Given the description of an element on the screen output the (x, y) to click on. 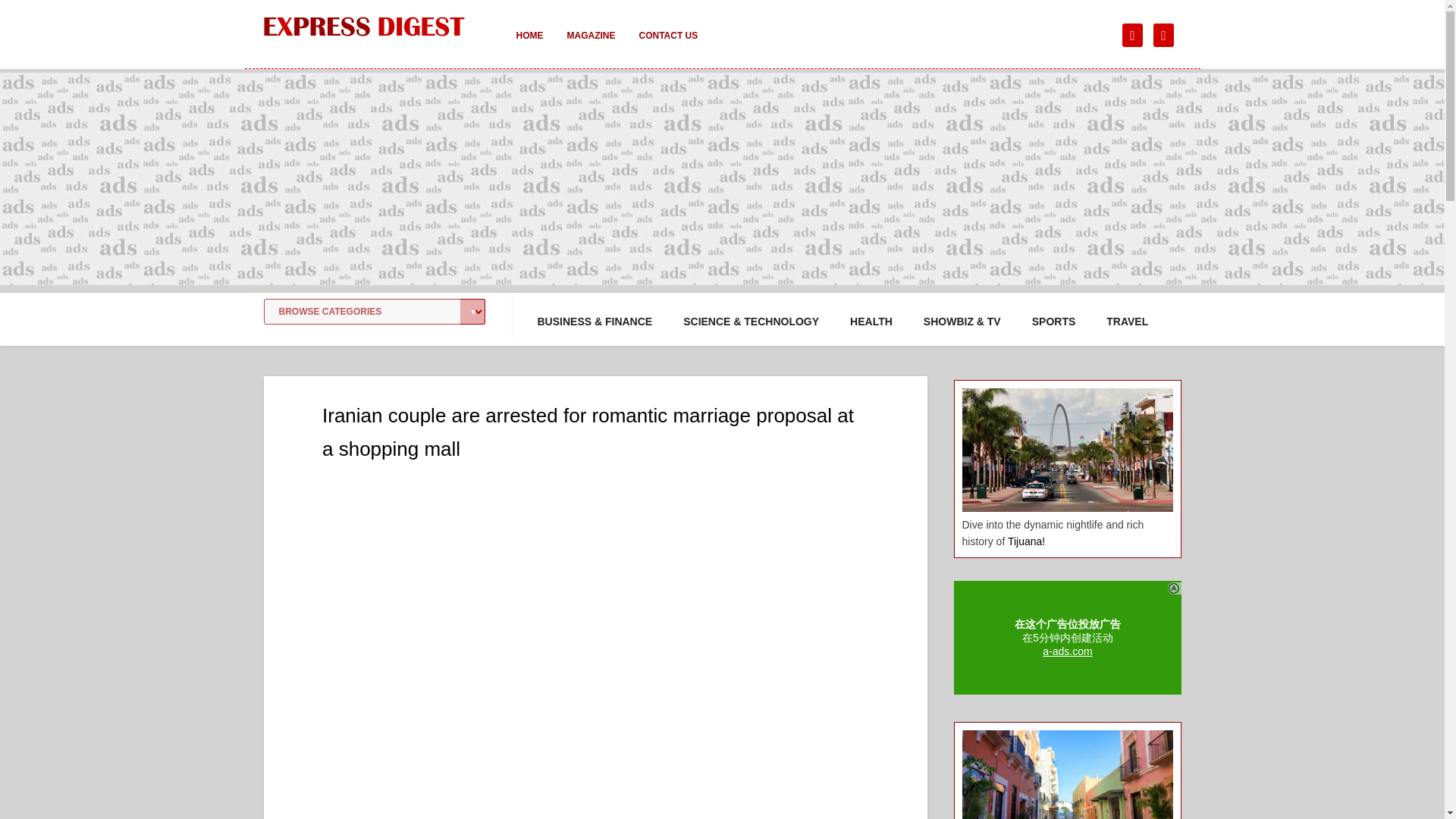
CONTACT US (667, 45)
HOME (528, 45)
Tijuana! (1026, 541)
HEALTH (871, 321)
SPORTS (1053, 321)
TRAVEL (1127, 321)
MAGAZINE (590, 45)
